Given the description of an element on the screen output the (x, y) to click on. 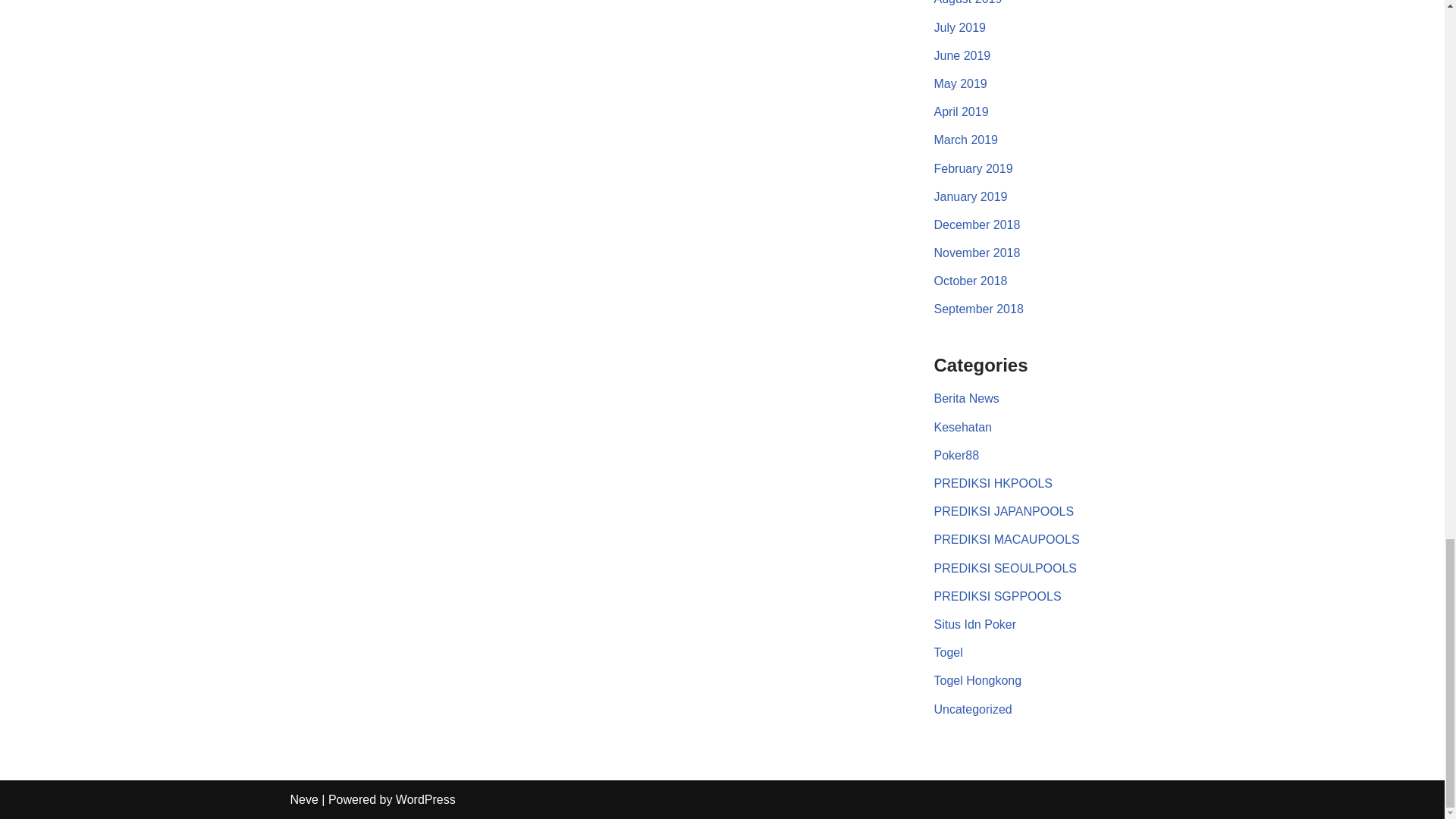
Kumpulan berita terbaru dan paling update (966, 398)
Prediksi togel hongkong paling akurat dan juga tepat (993, 482)
Prediksi togel seoul terupdate dan juga paling akurat (1005, 567)
